Given the description of an element on the screen output the (x, y) to click on. 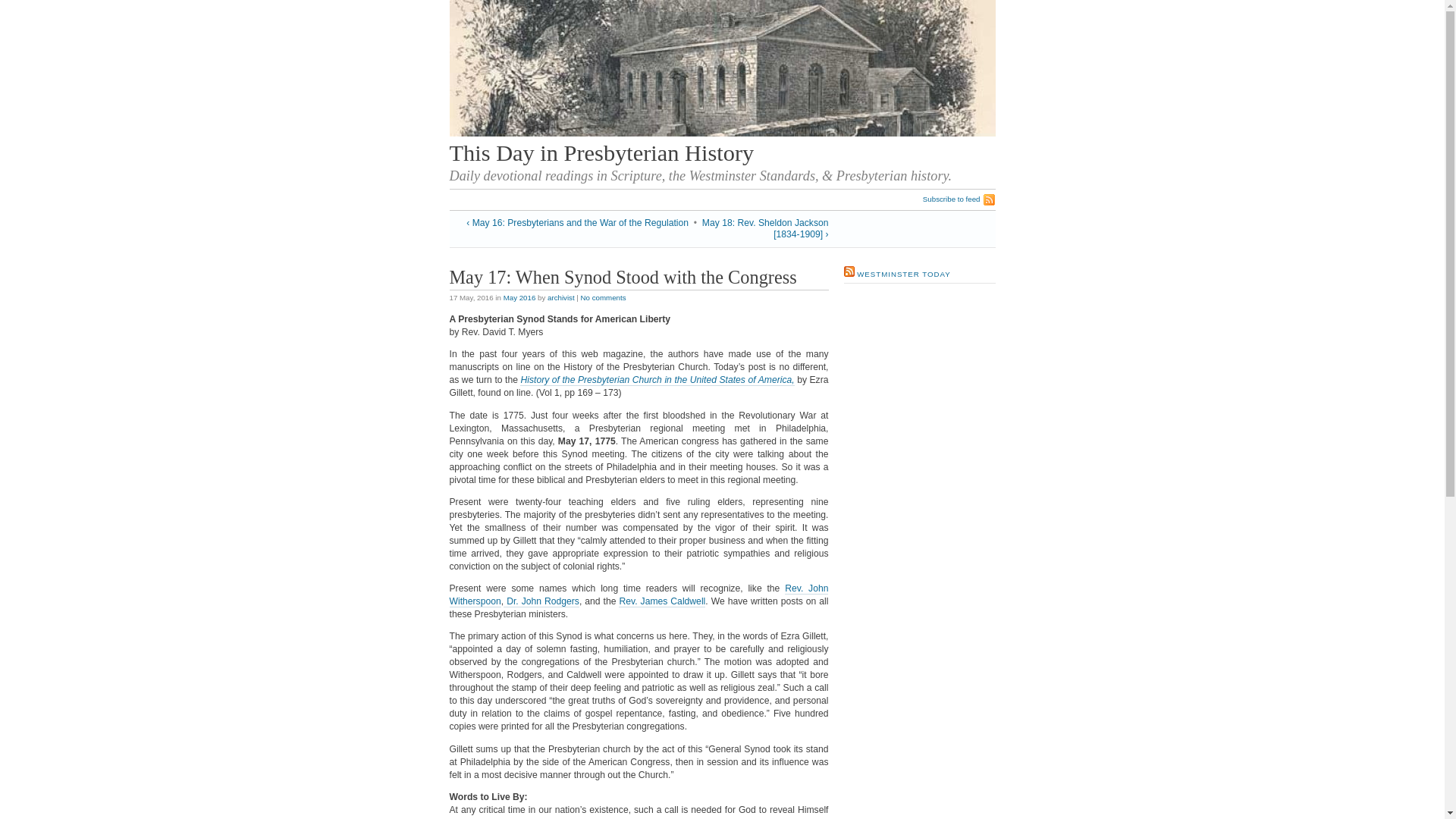
This Day in Presbyterian History (601, 153)
Rev. John Witherspoon (638, 595)
Return to main page (721, 132)
May 2016 (519, 297)
archivist (561, 297)
Subscribe to feed (959, 199)
Articles by archivist (561, 297)
WESTMINSTER TODAY (903, 274)
Rev. James Caldwell (661, 601)
